Given the description of an element on the screen output the (x, y) to click on. 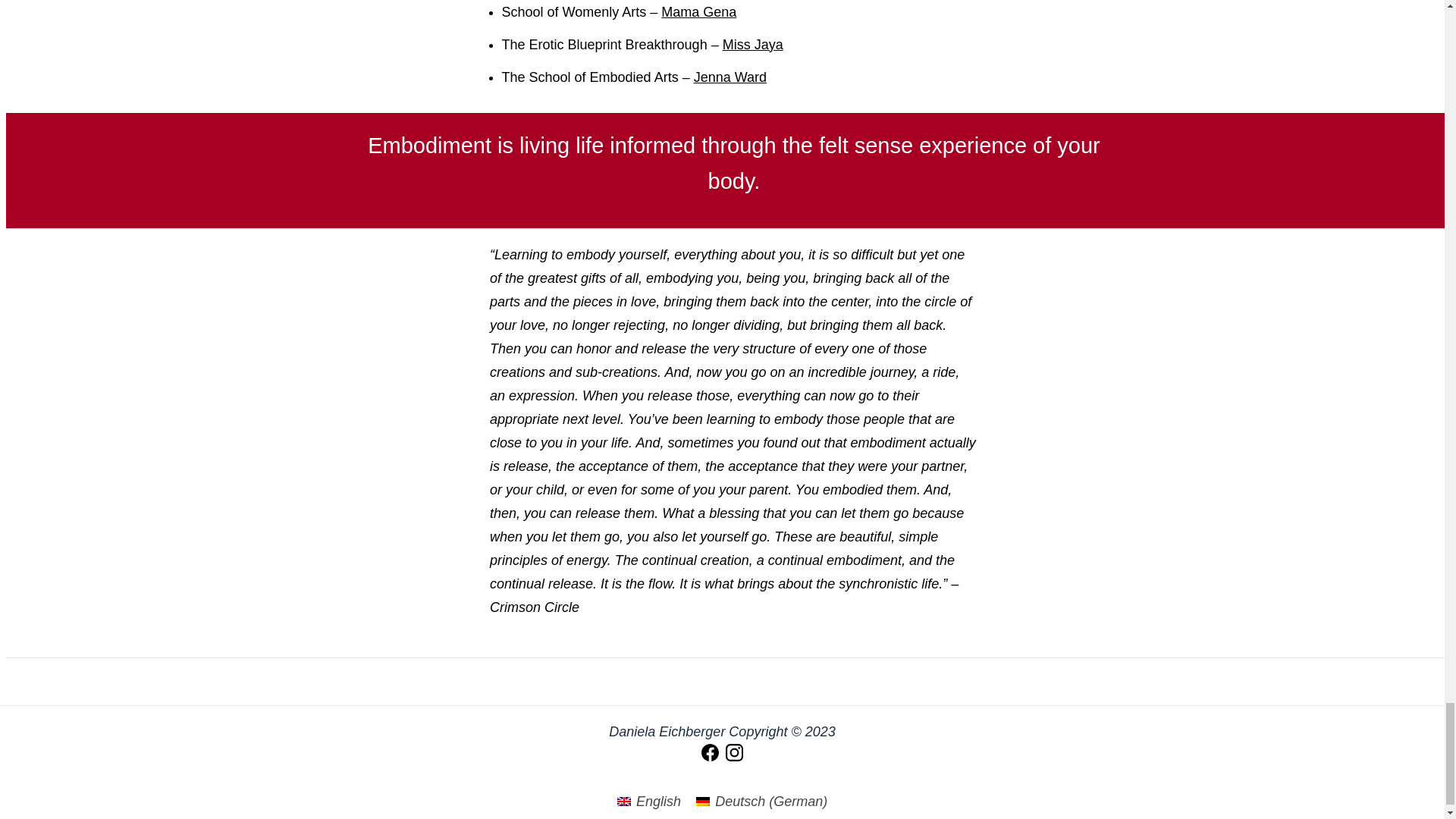
Jenna Ward (730, 76)
Mama Gena (698, 11)
English (649, 800)
Miss Jaya (752, 44)
